Given the description of an element on the screen output the (x, y) to click on. 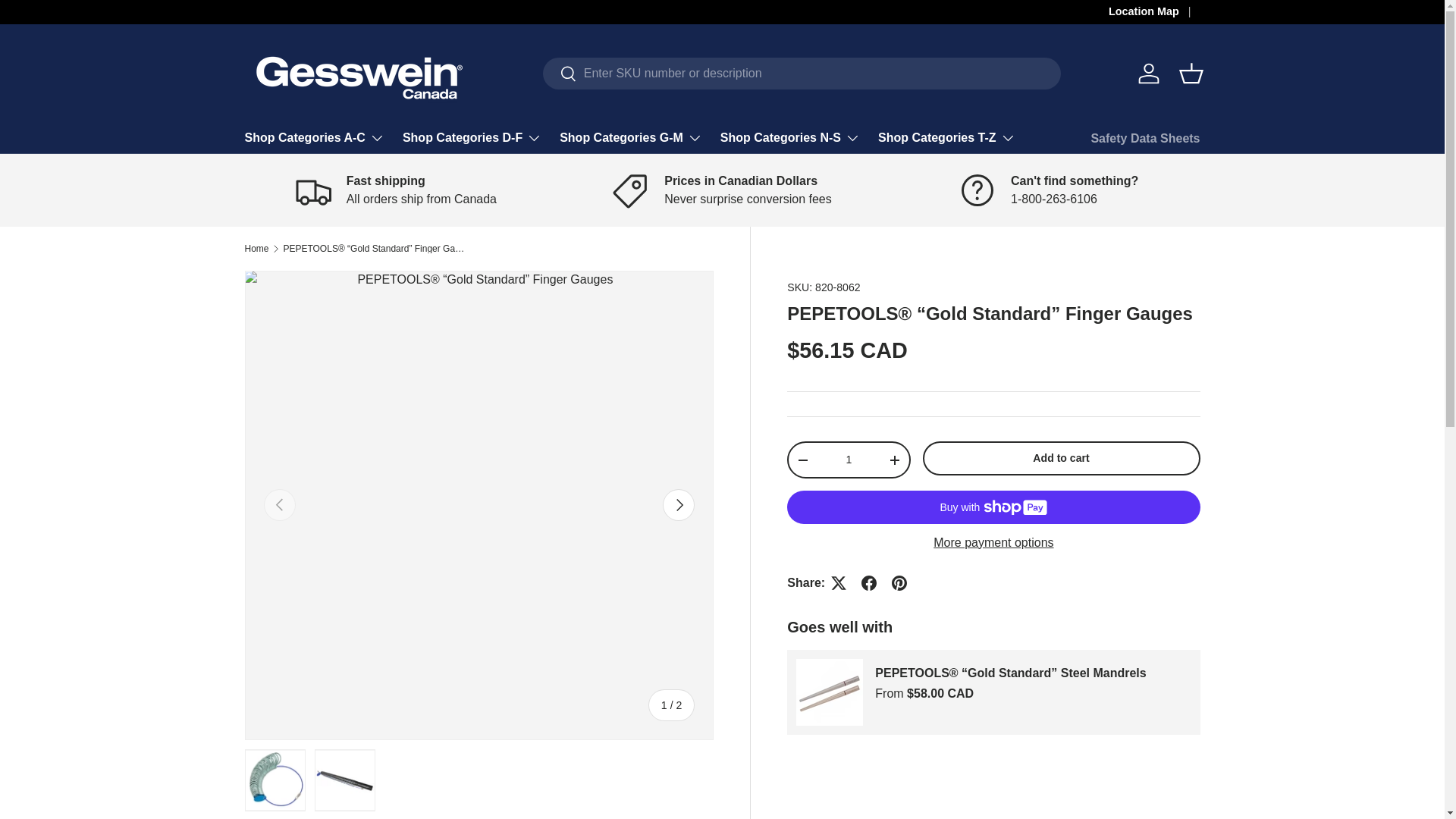
1 (847, 459)
Location Map (1153, 12)
Share on Facebook (868, 583)
Log in (1147, 73)
Skip to content (69, 21)
Shop Categories A-C (314, 137)
Pin on Pinterest (898, 583)
Search (559, 74)
Basket (1190, 73)
